Given the description of an element on the screen output the (x, y) to click on. 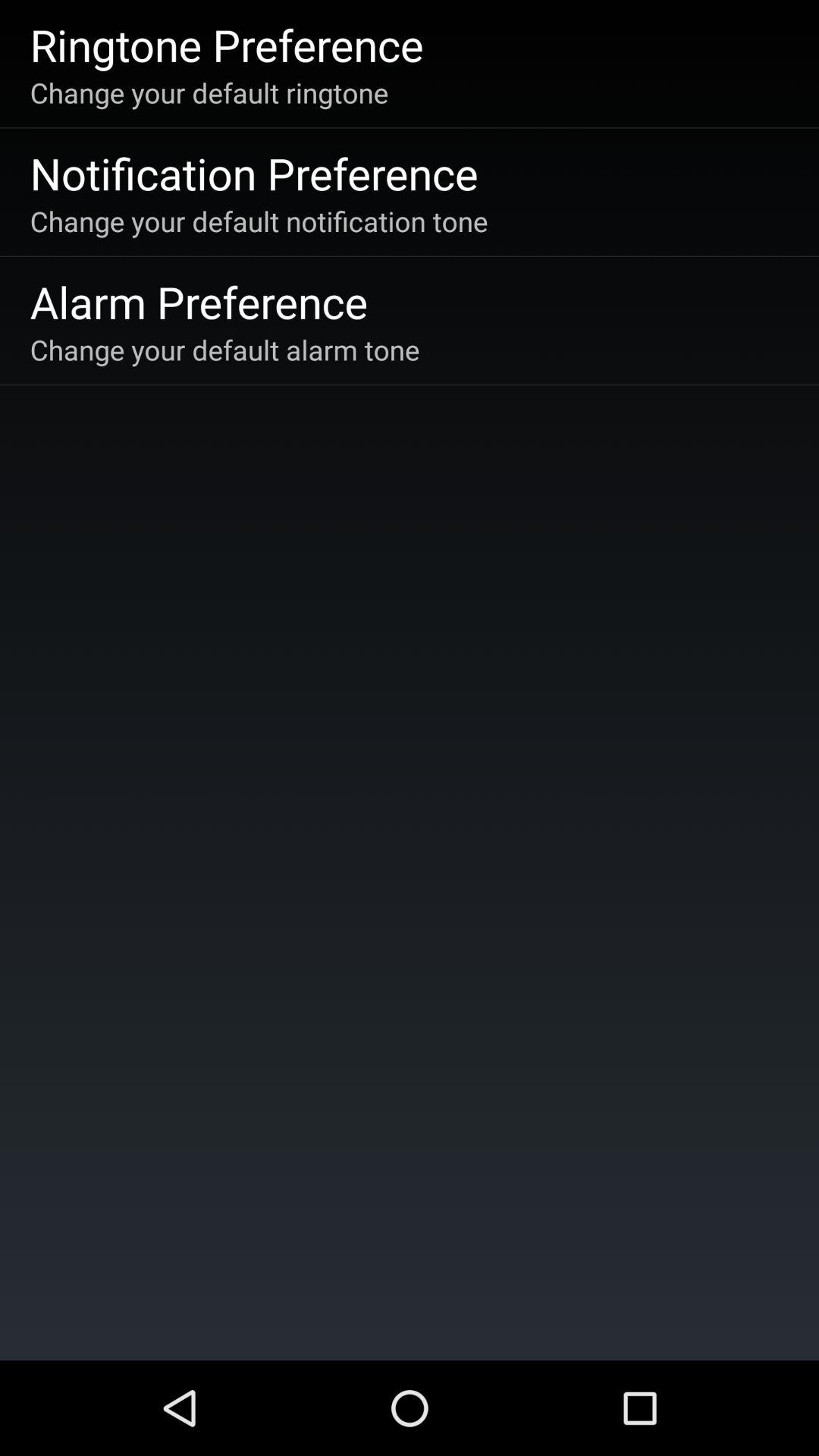
open notification preference (254, 172)
